Given the description of an element on the screen output the (x, y) to click on. 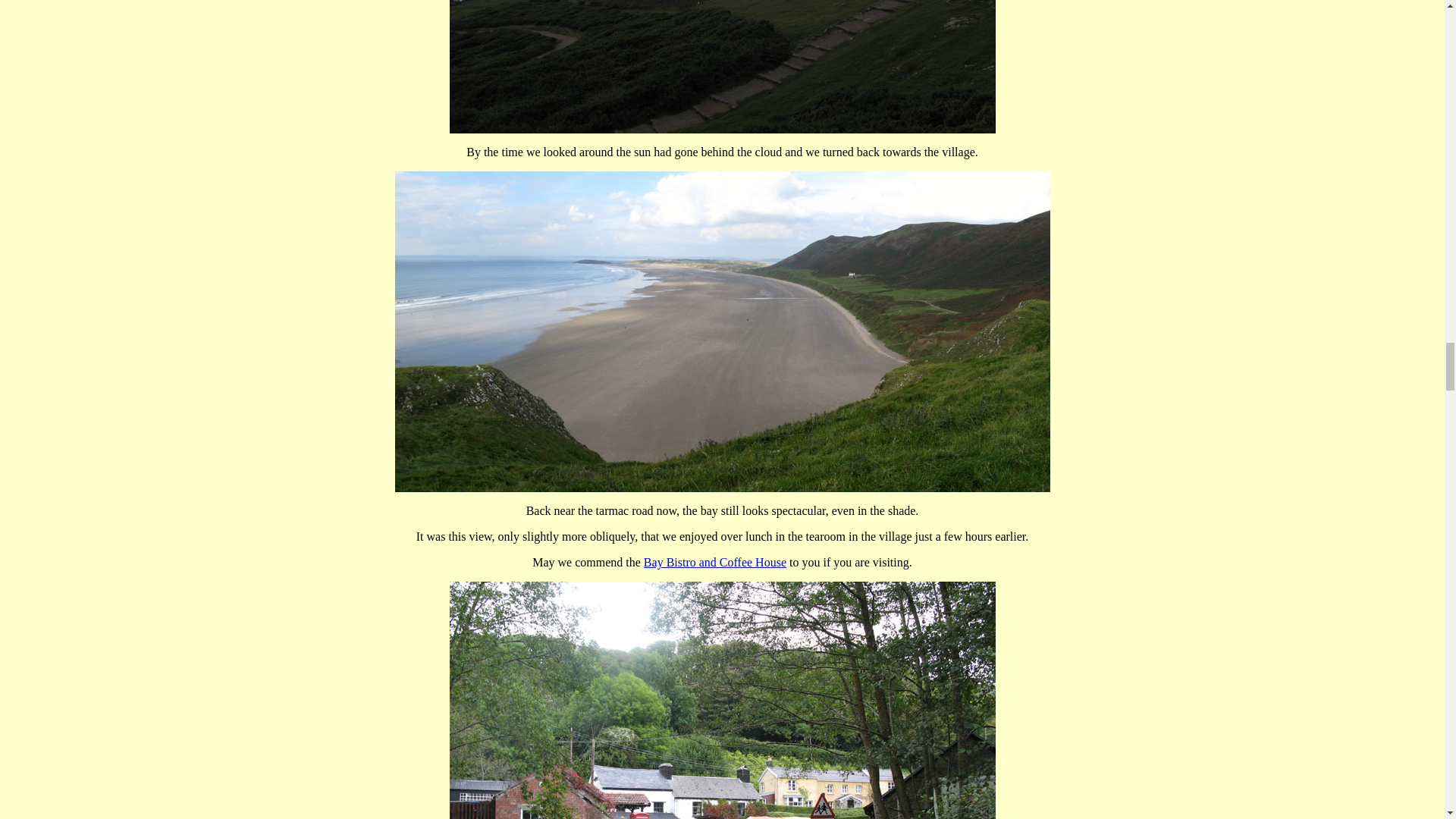
Bay Bistro and Coffee House (714, 562)
